Given the description of an element on the screen output the (x, y) to click on. 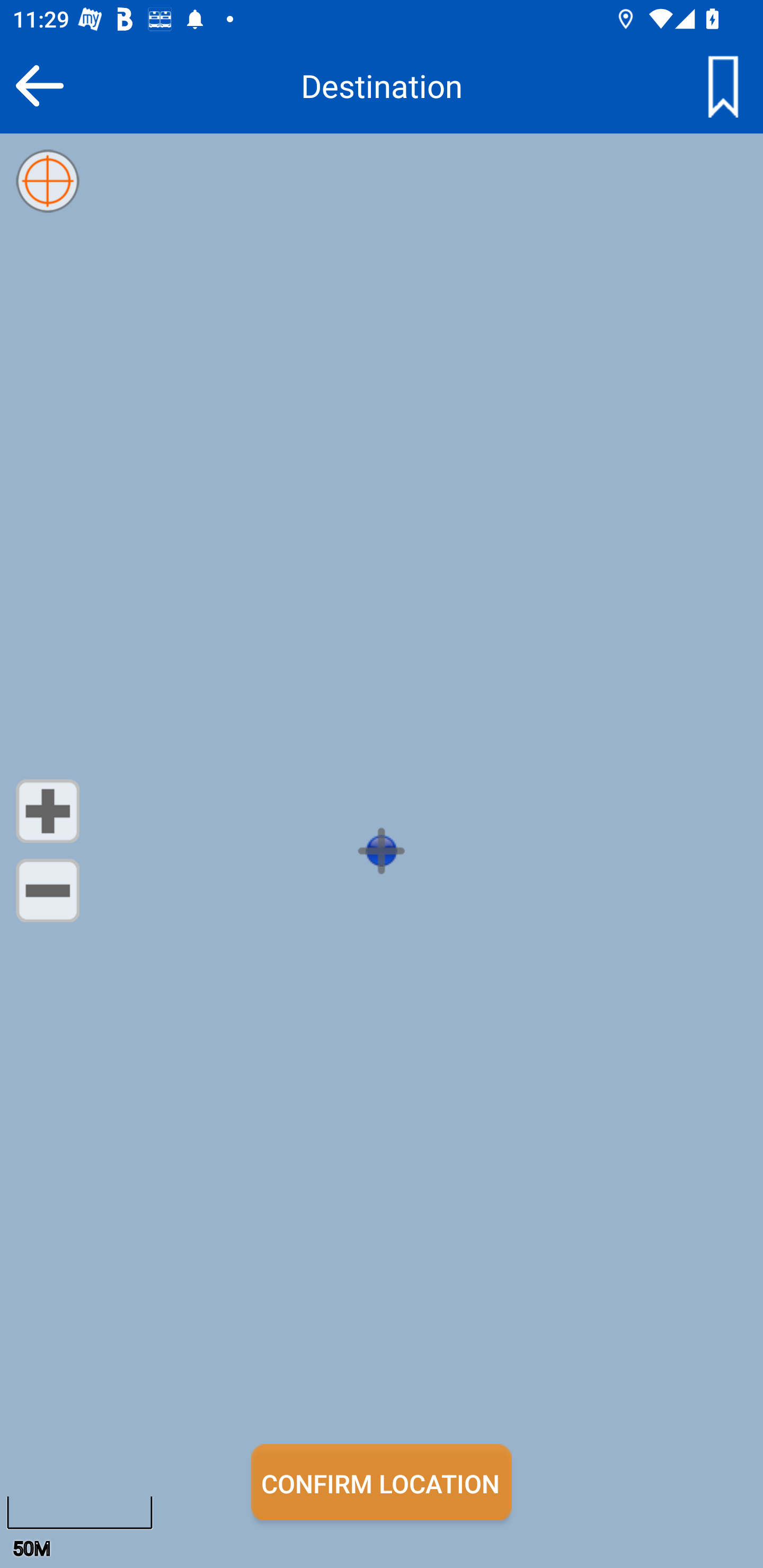
Add bookmark (723, 85)
Back (39, 85)
CONFIRM LOCATION (381, 1482)
